Given the description of an element on the screen output the (x, y) to click on. 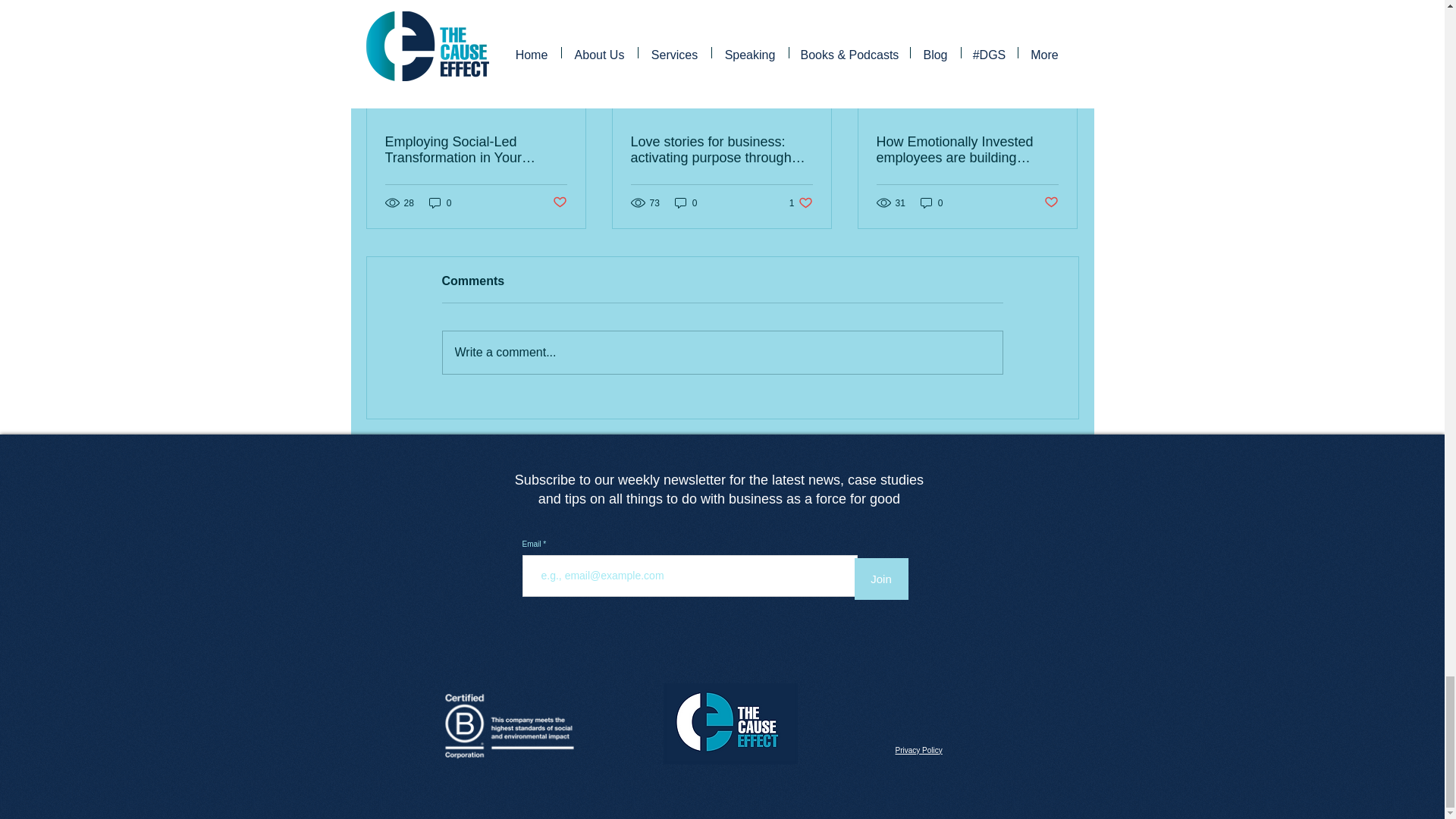
Post not marked as liked (558, 202)
0 (685, 202)
0 (440, 202)
